Given the description of an element on the screen output the (x, y) to click on. 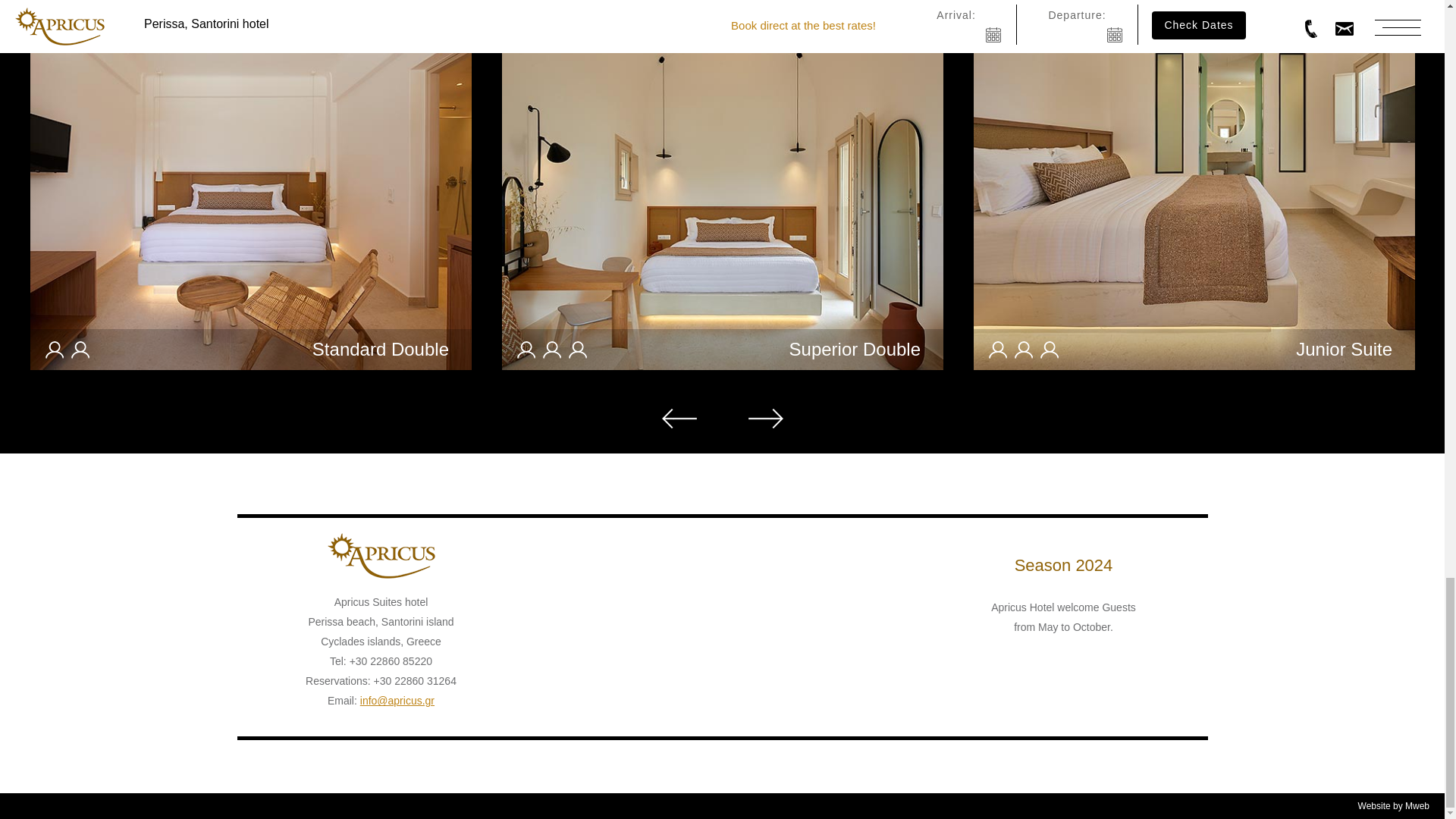
Previous (678, 418)
